Given the description of an element on the screen output the (x, y) to click on. 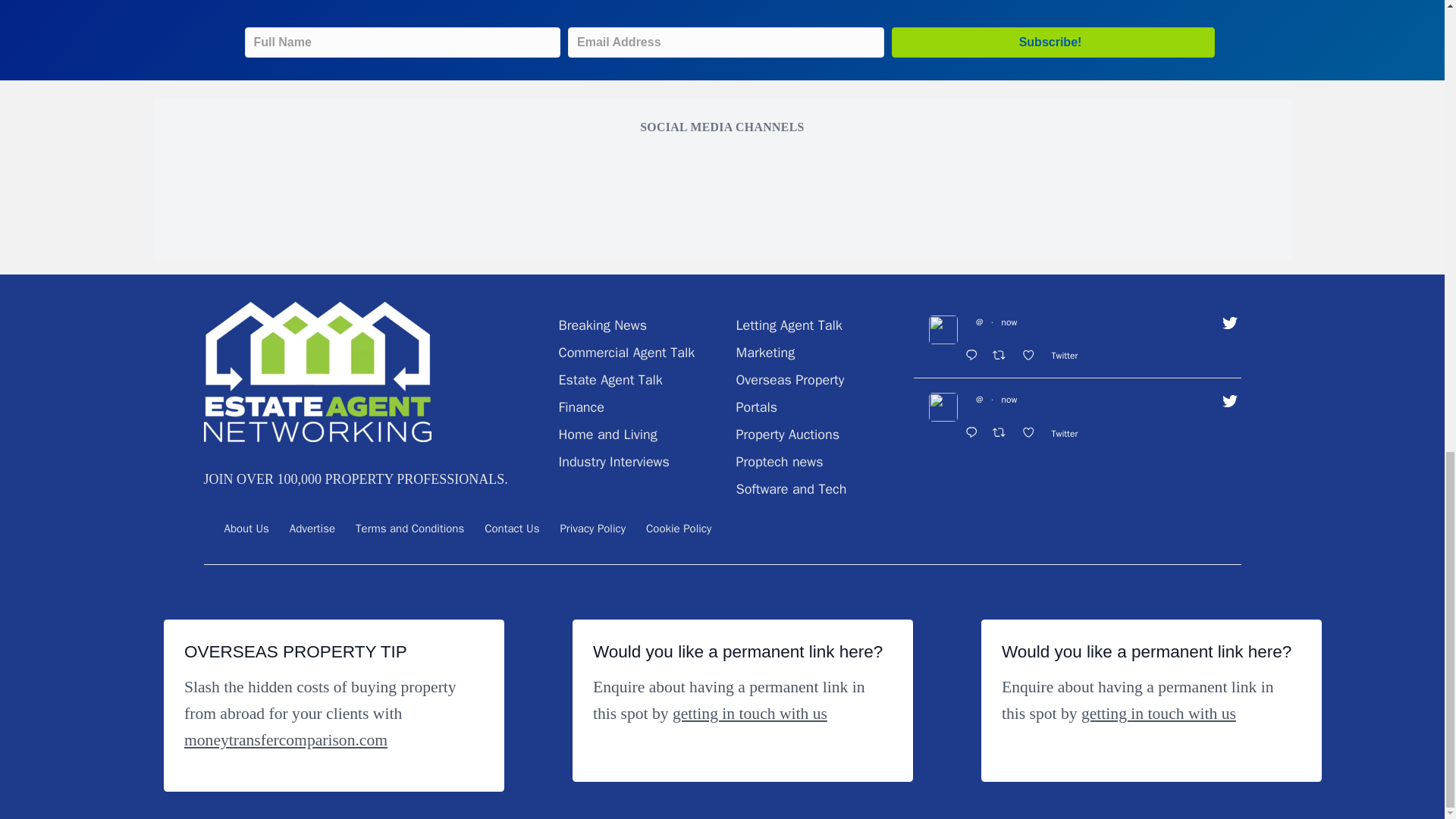
Marketing (764, 352)
Proptech news (778, 461)
Software and Tech (790, 488)
Letting Agent Talk (788, 324)
Like on Twitter (1031, 356)
now (1008, 322)
Twitter (1067, 355)
Overseas Property (789, 379)
Estate Agent Talk (609, 379)
Home and Living (606, 434)
